Given the description of an element on the screen output the (x, y) to click on. 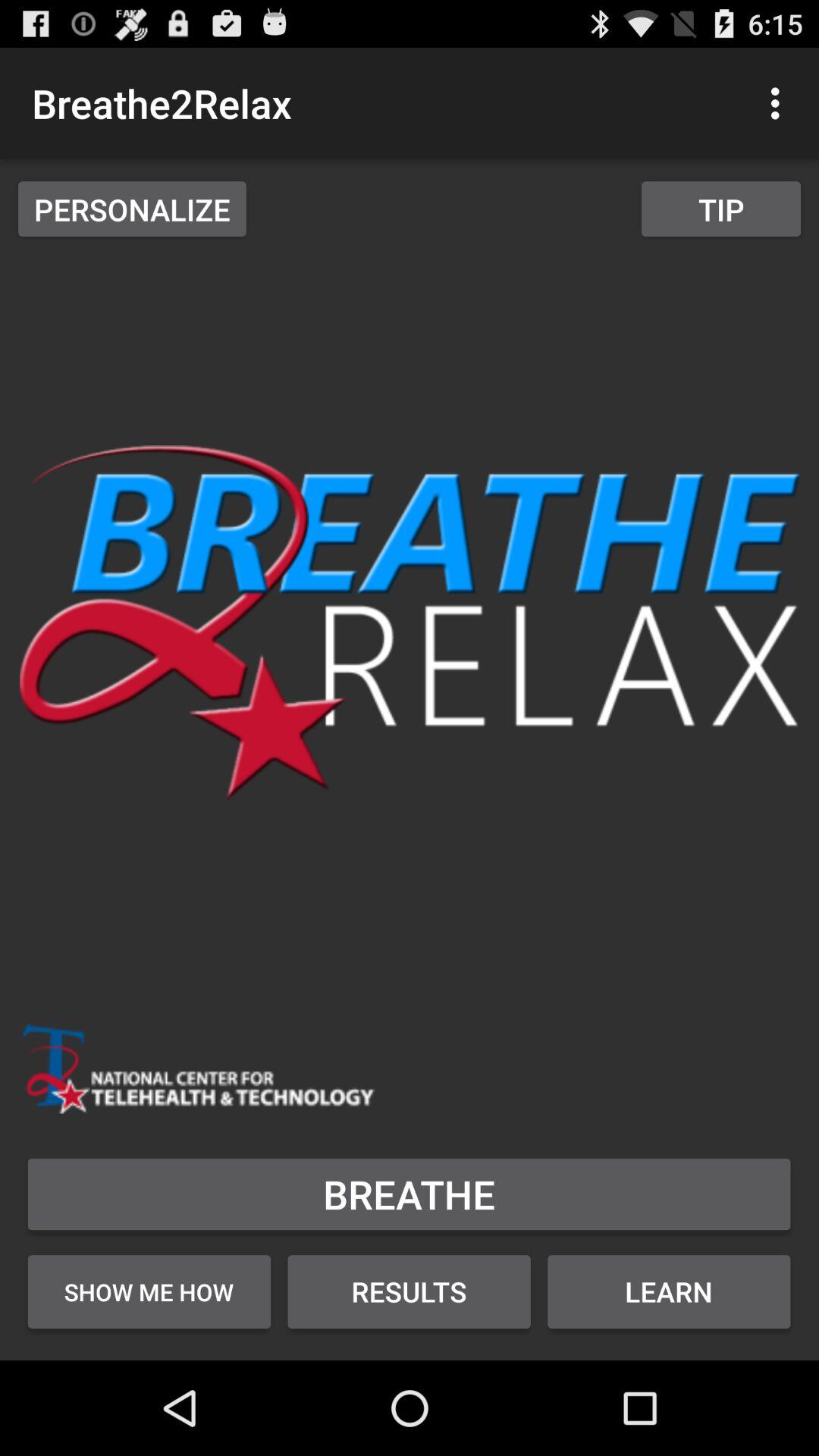
select the item below breathe (148, 1291)
